Given the description of an element on the screen output the (x, y) to click on. 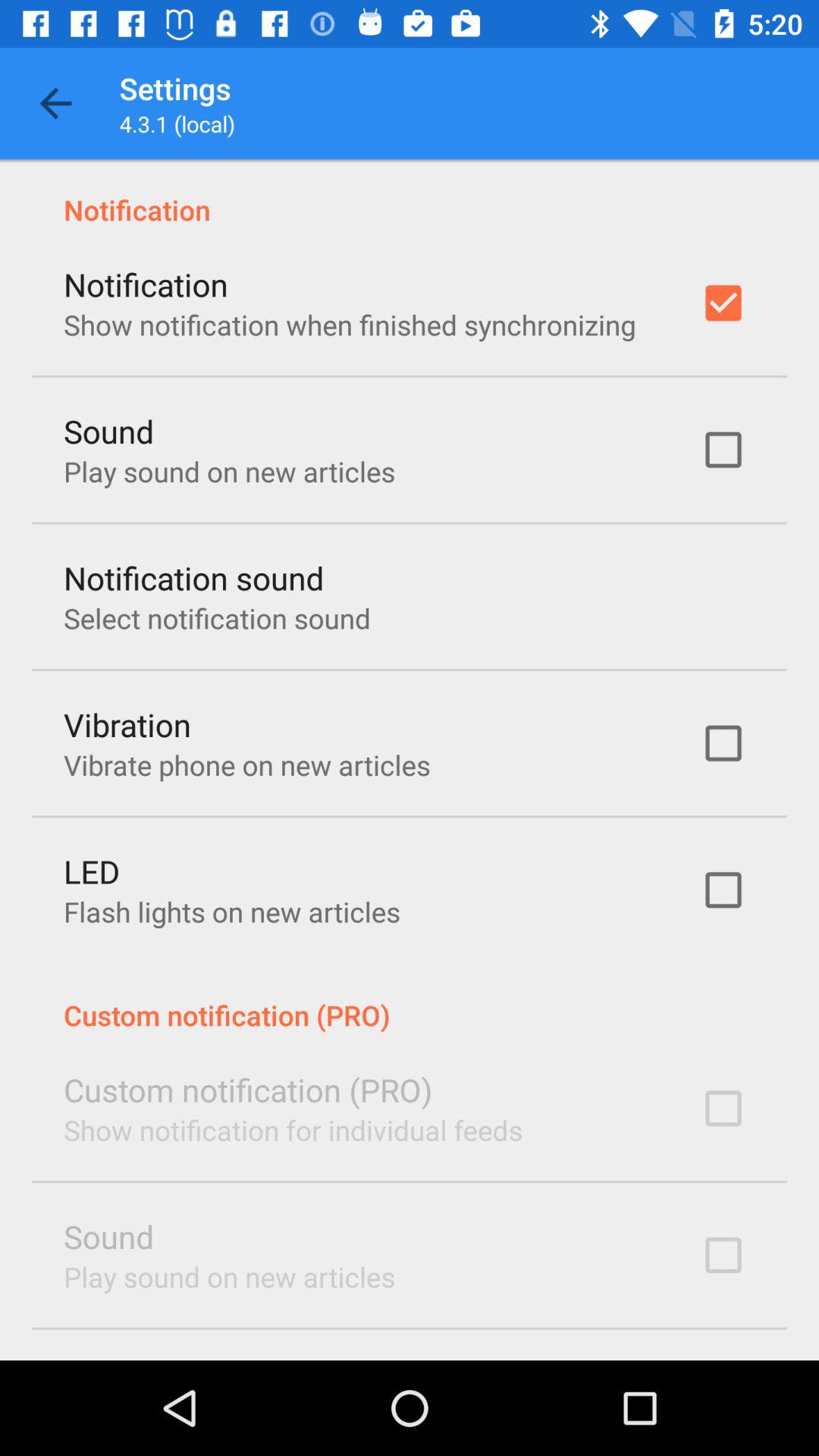
jump to vibration (127, 724)
